Given the description of an element on the screen output the (x, y) to click on. 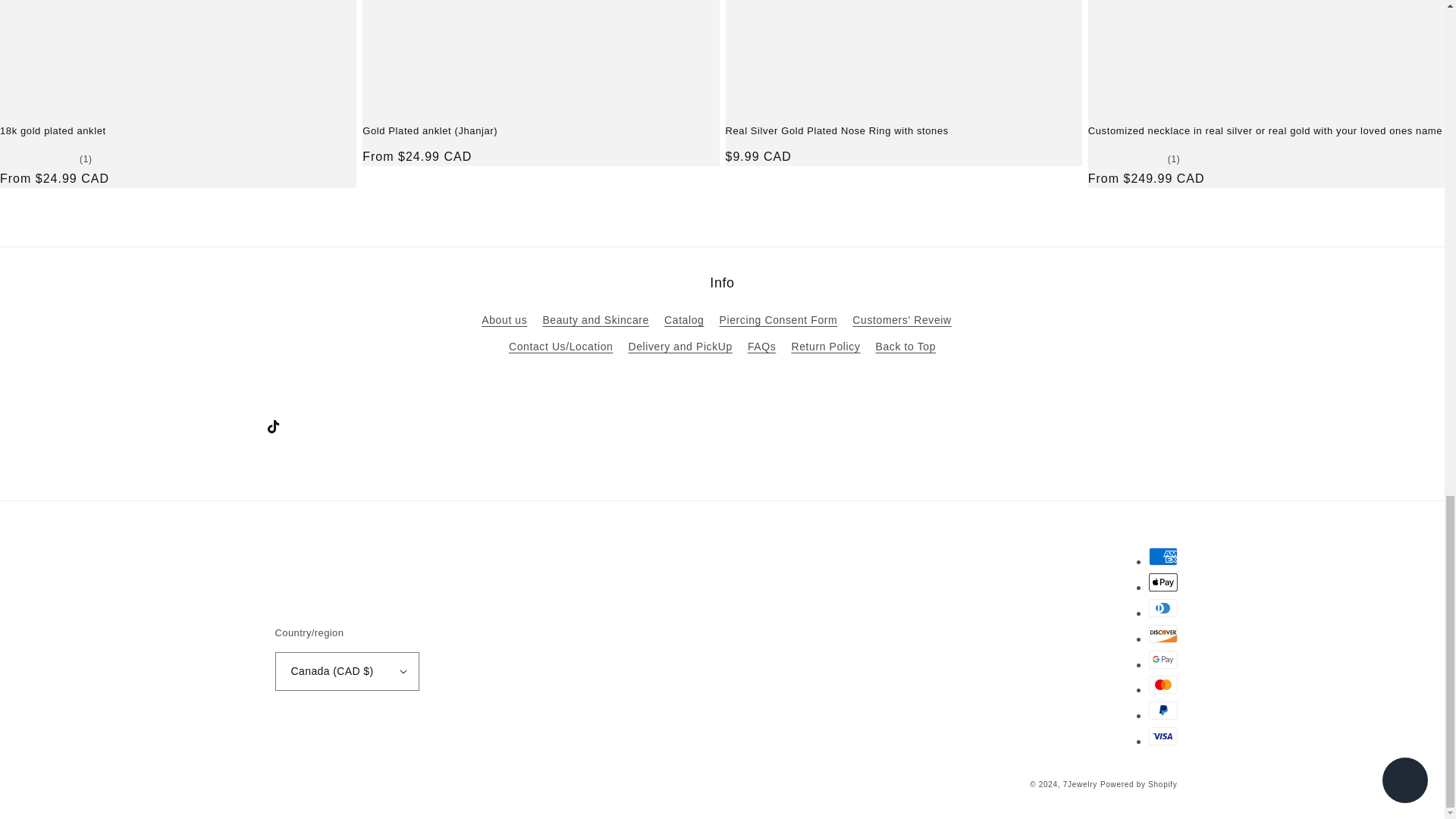
Diners Club (1162, 607)
Apple Pay (1162, 582)
American Express (1162, 556)
